Given the description of an element on the screen output the (x, y) to click on. 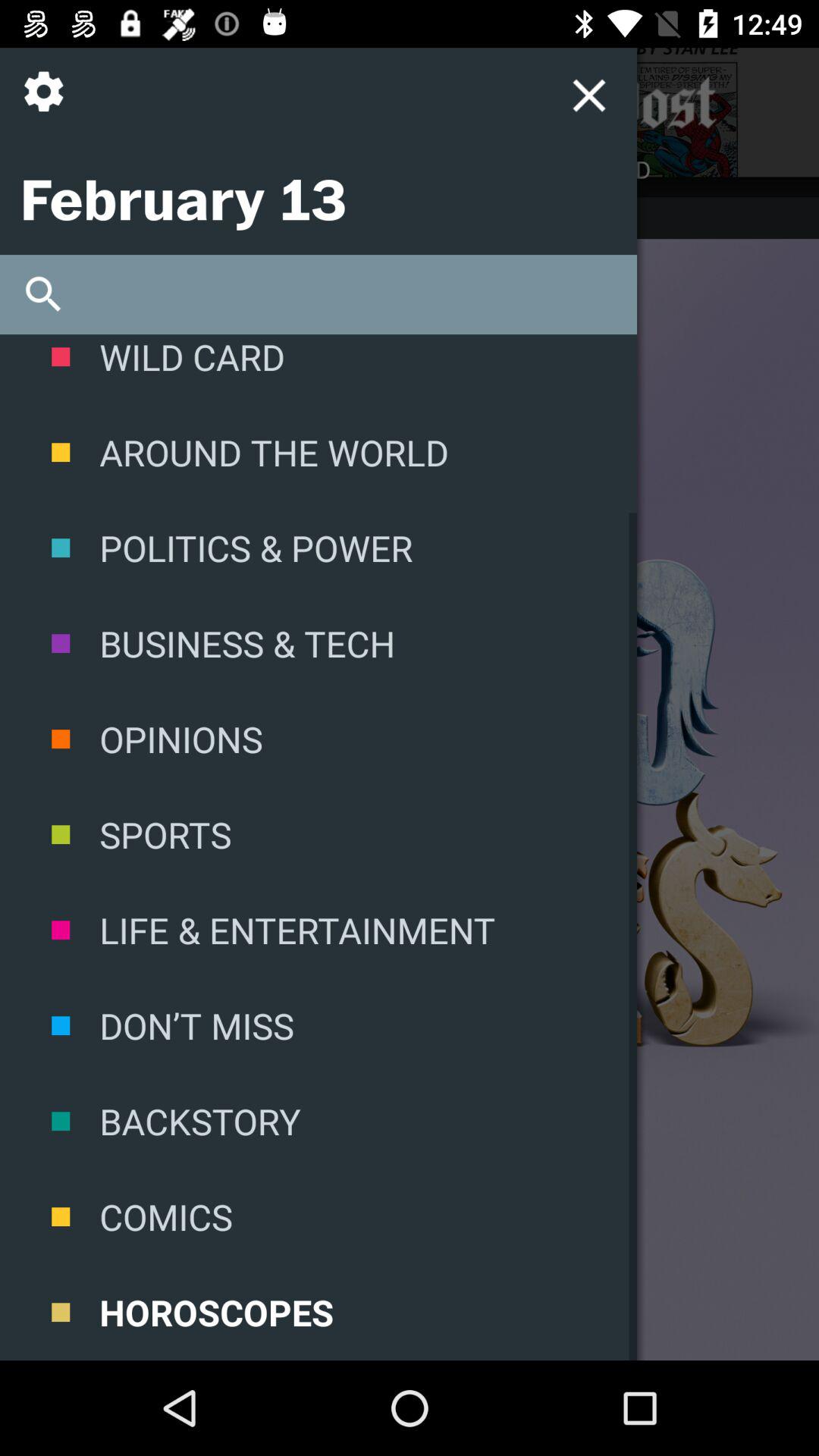
click wild card item (318, 369)
